Given the description of an element on the screen output the (x, y) to click on. 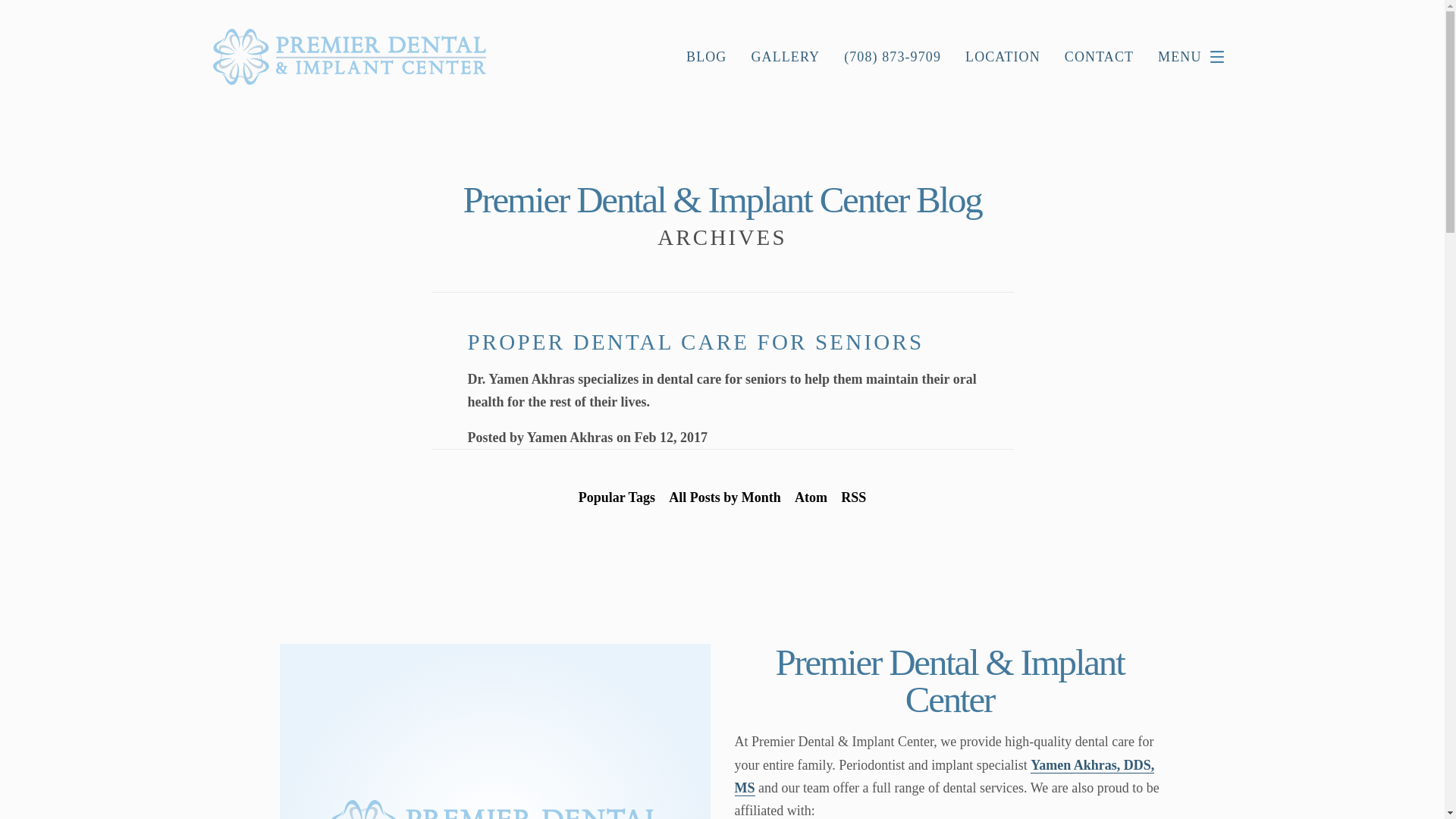
RSS (853, 497)
Yamen Akhras, DDS, MS (943, 776)
Popular Tags (617, 497)
All Posts by Month (724, 497)
Atom (810, 497)
